Given the description of an element on the screen output the (x, y) to click on. 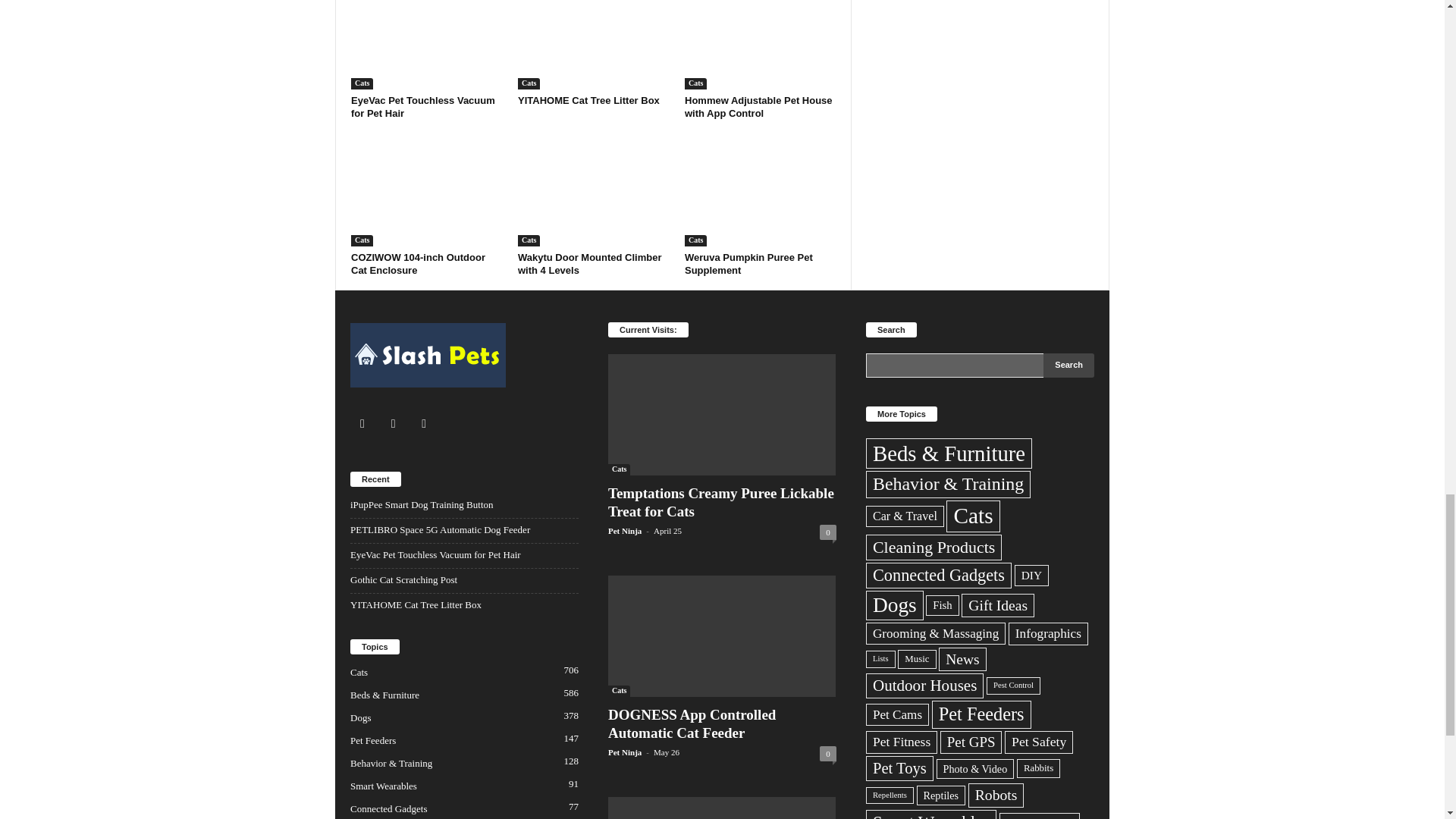
Search (1068, 364)
